Given the description of an element on the screen output the (x, y) to click on. 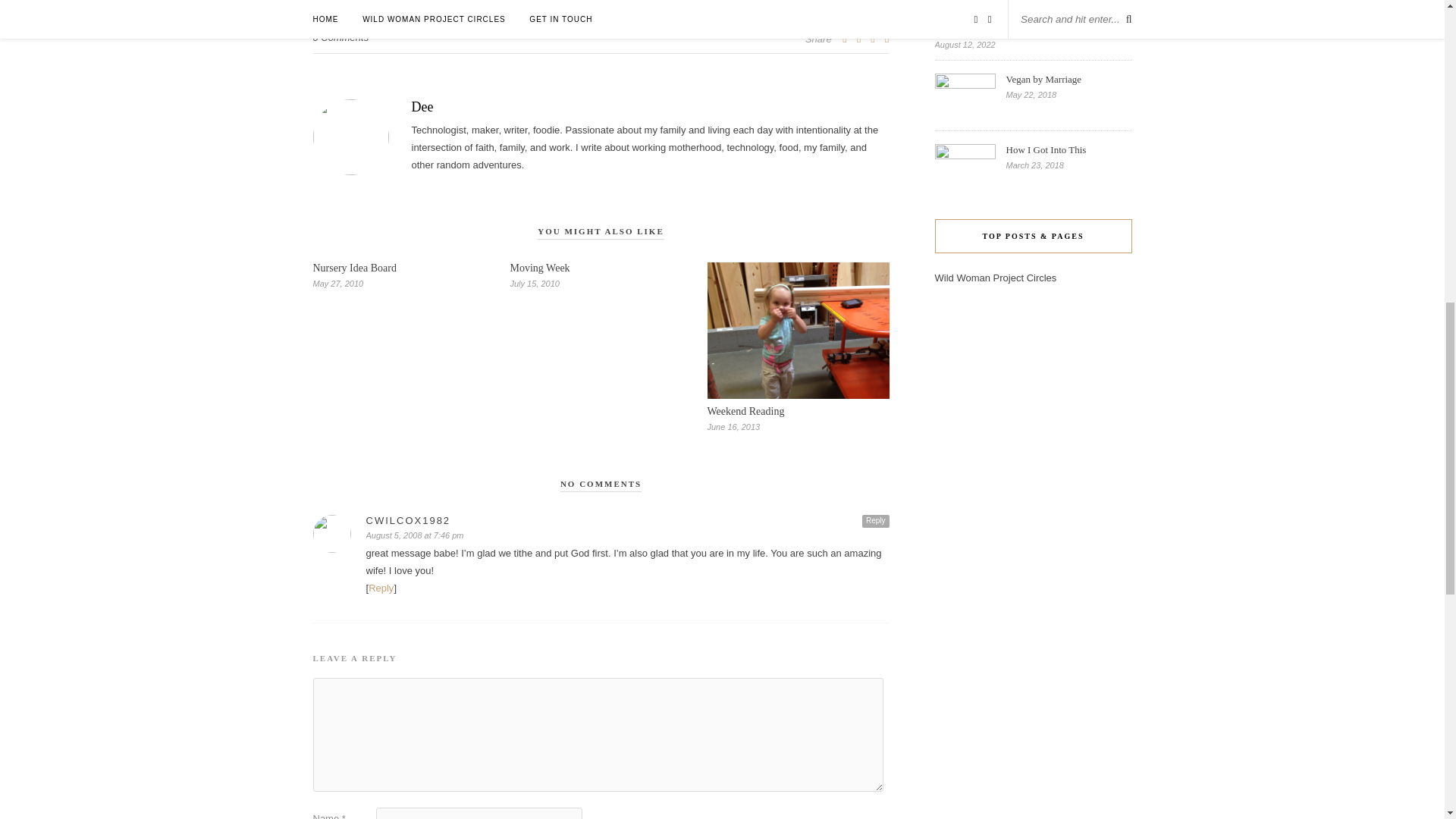
Nursery Idea Board (354, 267)
CWILCOX1982 (626, 520)
Reply (380, 587)
Moving Week (539, 267)
NEW LIFE CHURCH (623, 1)
0 Comments (340, 37)
ONE PRAYER (711, 1)
Posts by Dee (600, 107)
Reply (875, 521)
The French Sycamore Tree (1032, 29)
ECONOMY (341, 1)
Weekend Reading (745, 410)
HEALING PLACE CHURCH (510, 1)
Vegan by Marriage (1068, 79)
GENEROSITY (409, 1)
